Given the description of an element on the screen output the (x, y) to click on. 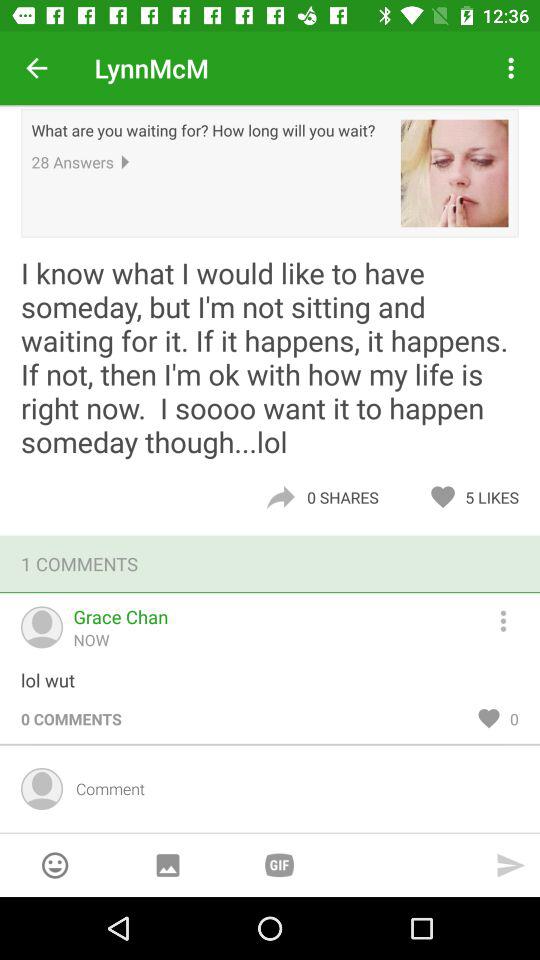
share the the conversation (280, 497)
